Given the description of an element on the screen output the (x, y) to click on. 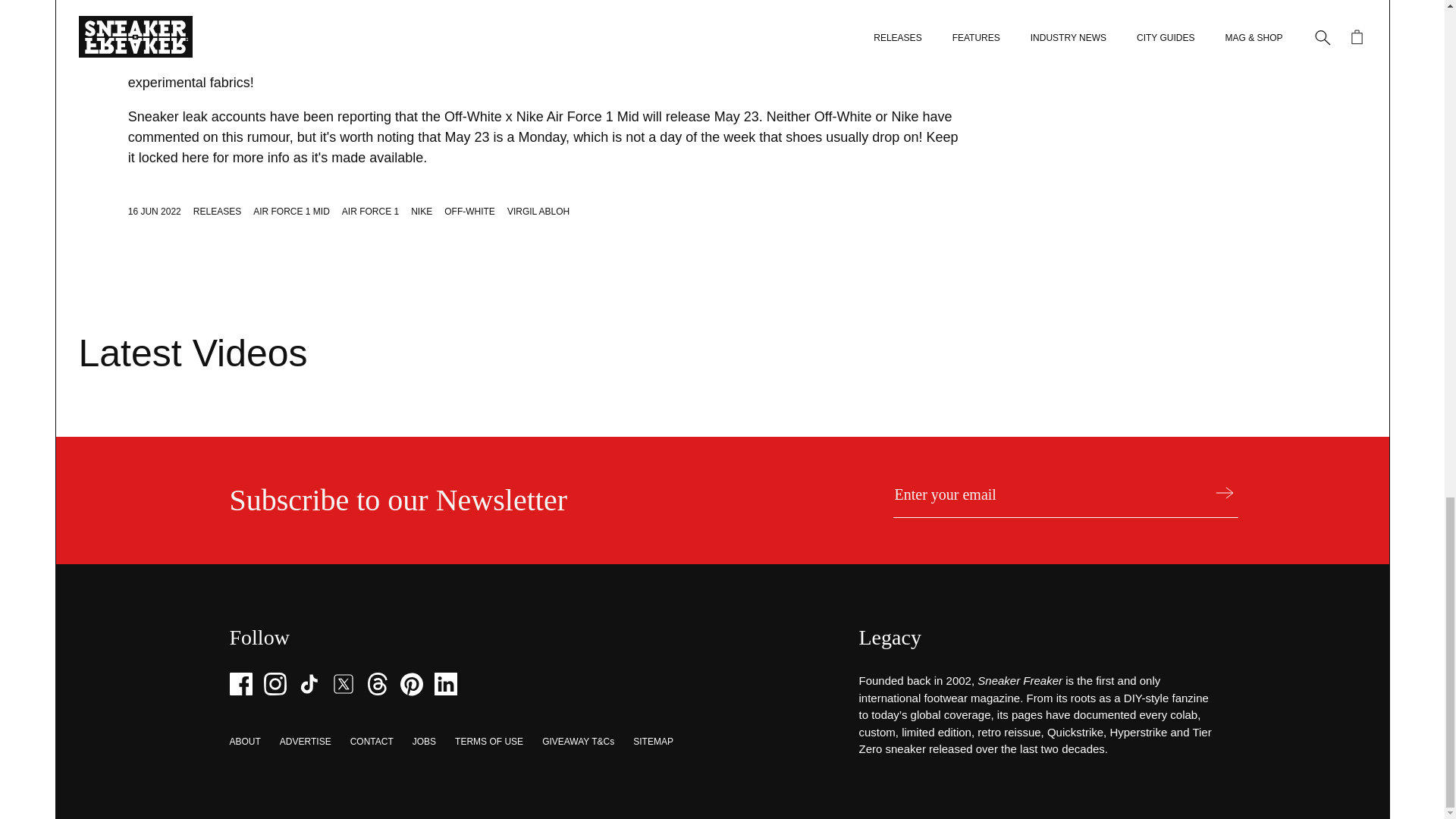
Off-White x Nike Terra Kiger 5 (218, 20)
RELEASES (217, 211)
AIR FORCE 1 (370, 211)
VIRGIL ABLOH (537, 211)
OFF-WHITE (469, 211)
NIKE (421, 211)
ADVERTISE (305, 741)
ABOUT (244, 741)
AIR FORCE 1 MID (291, 211)
